Given the description of an element on the screen output the (x, y) to click on. 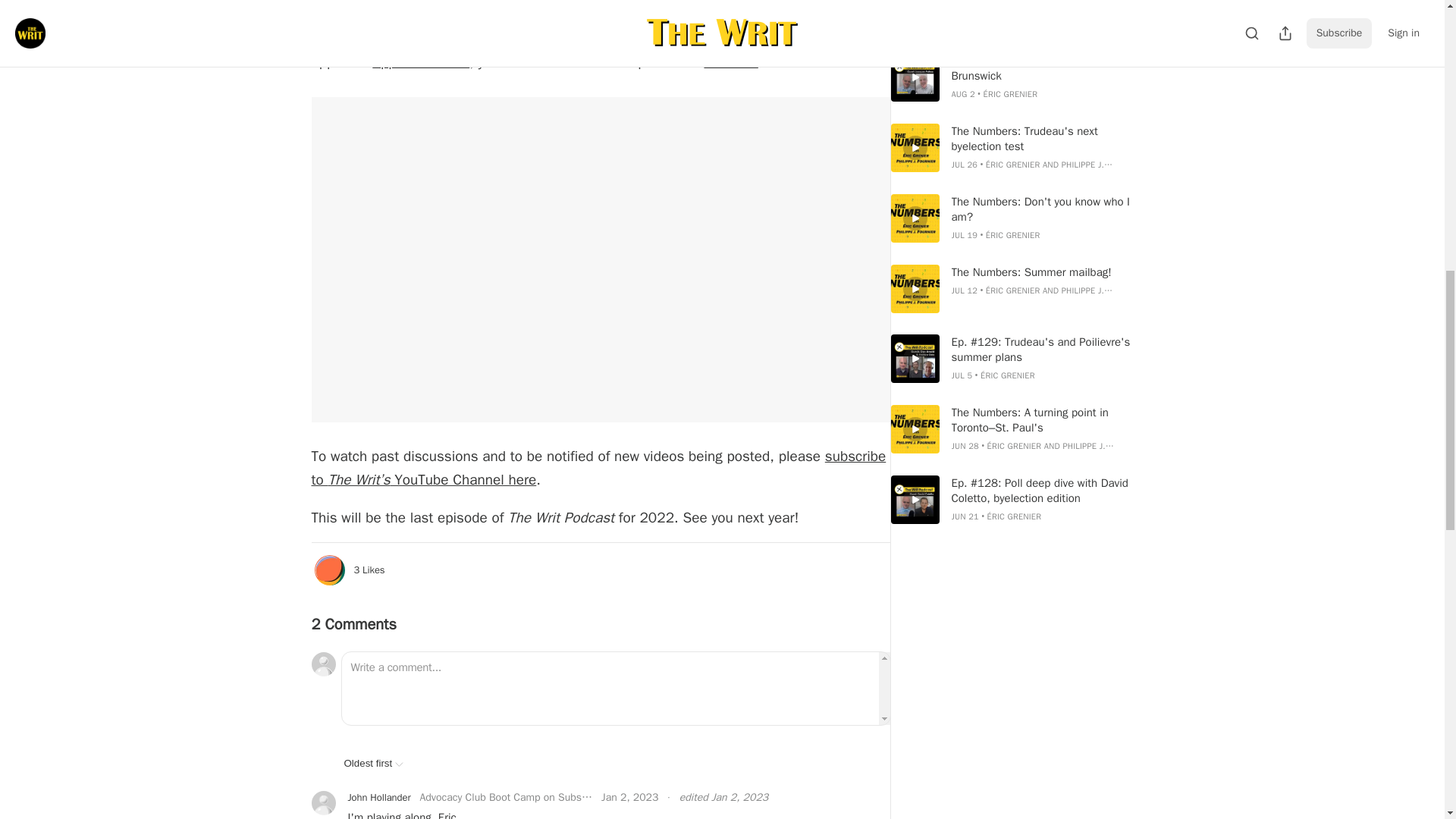
YouTube (730, 62)
Subscribe (705, 6)
TheWrit.ca (758, 39)
subscribe to (598, 467)
Apple Podcasts (420, 62)
